Given the description of an element on the screen output the (x, y) to click on. 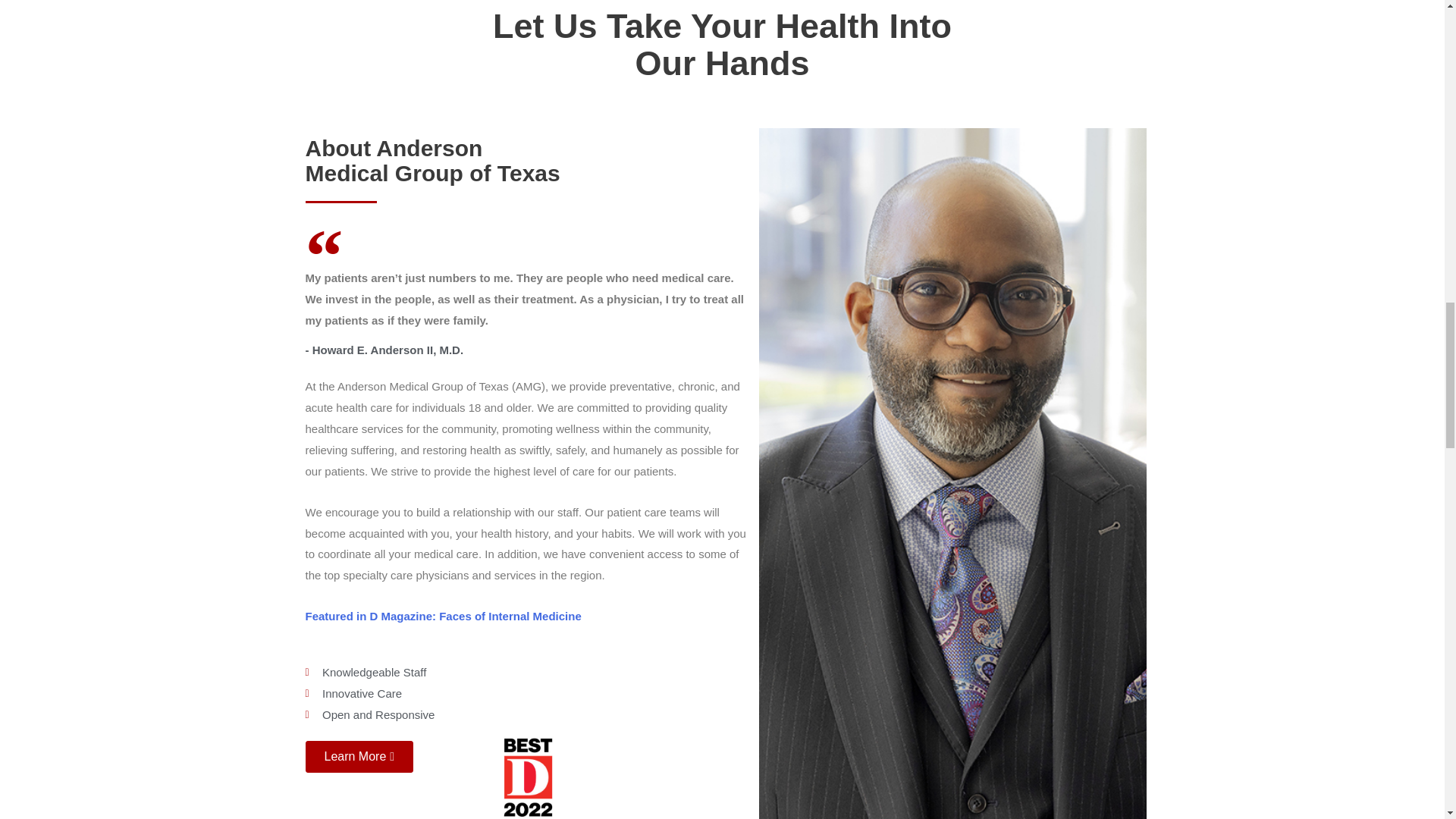
Featured in D Magazine: Faces of Internal Medicine (442, 615)
Learn More (358, 757)
